Given the description of an element on the screen output the (x, y) to click on. 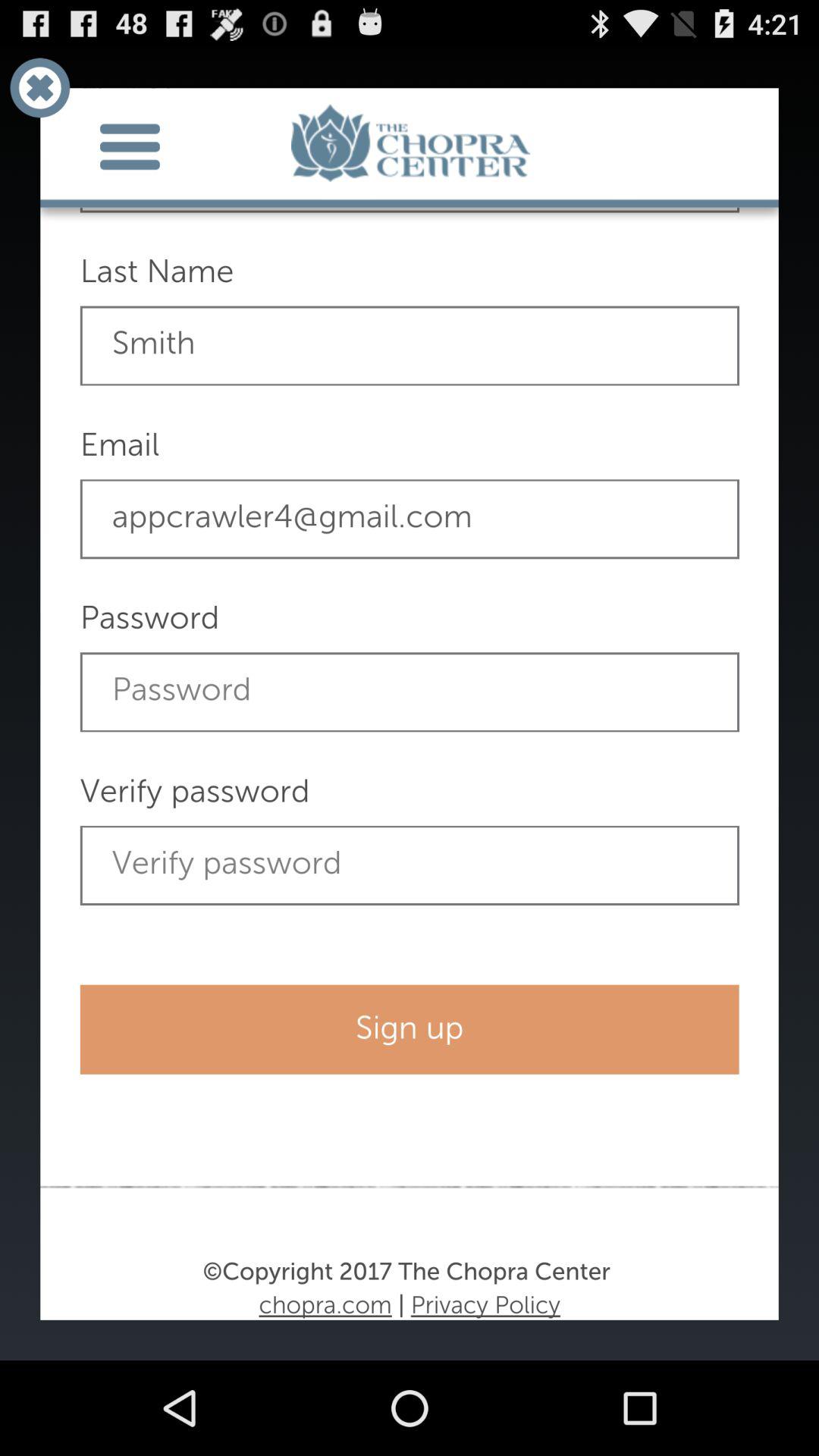
close button (39, 87)
